Given the description of an element on the screen output the (x, y) to click on. 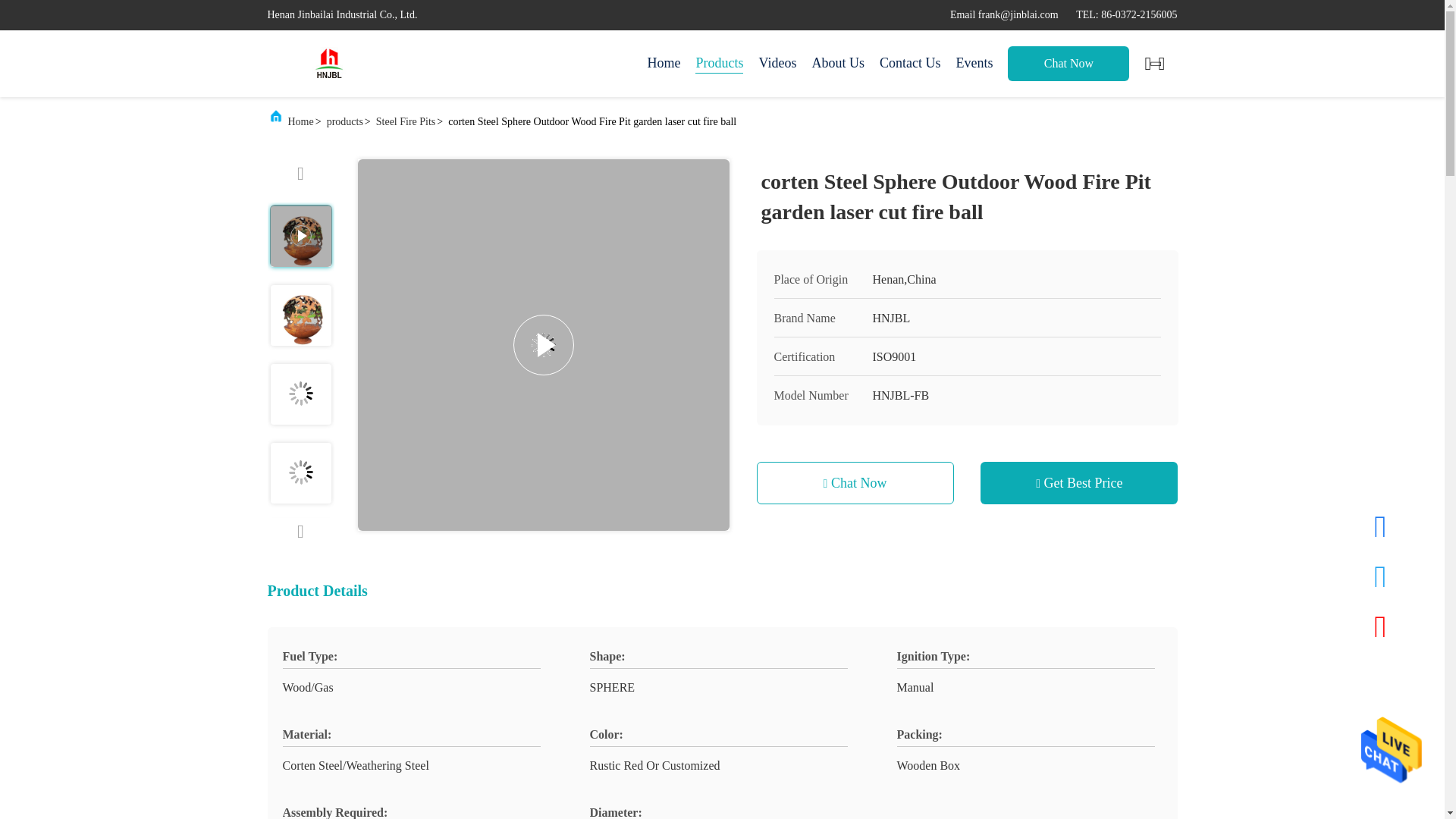
Contact Us (909, 63)
Products (718, 63)
Events (973, 63)
Home (662, 63)
Videos (777, 63)
Home (327, 63)
About Us (837, 63)
Chat Now (1068, 63)
